Given the description of an element on the screen output the (x, y) to click on. 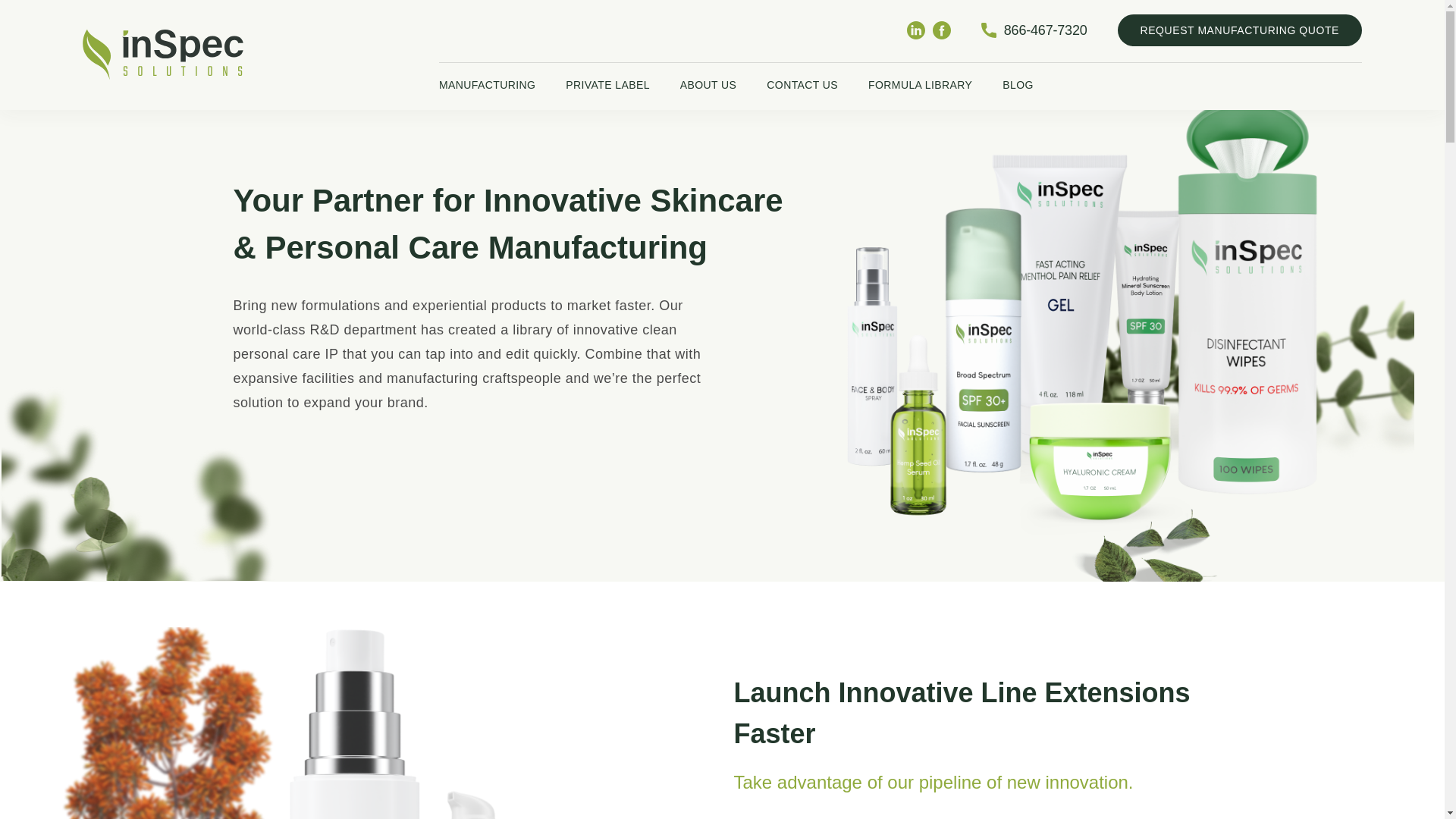
866-467-7320 (1034, 30)
CONTACT US (802, 86)
PRIVATE LABEL (607, 86)
FORMULA LIBRARY (919, 86)
ABOUT US (707, 86)
BLOG (1018, 86)
MANUFACTURING (487, 86)
